Given the description of an element on the screen output the (x, y) to click on. 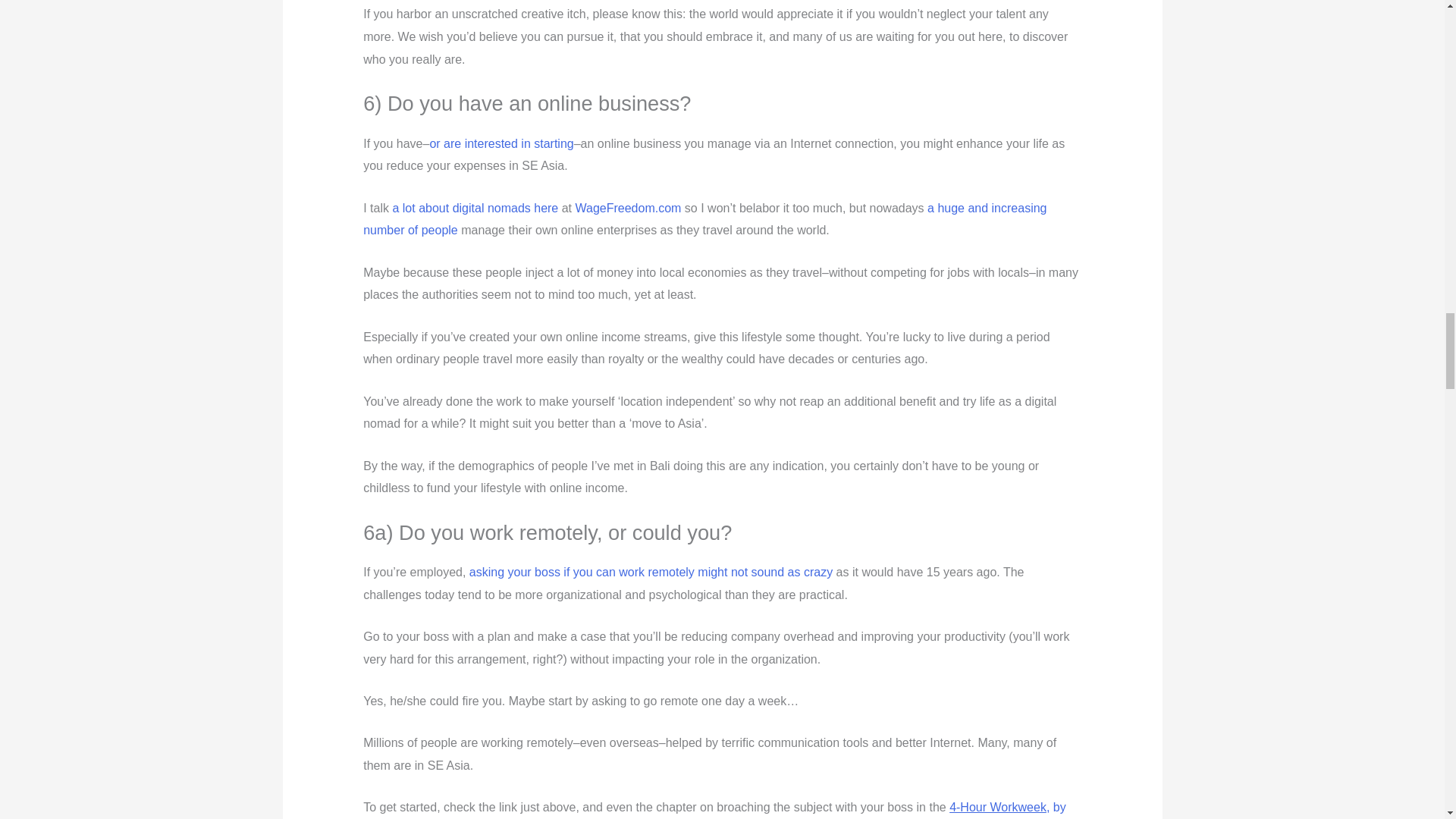
a lot about digital nomads here (474, 207)
WageFreedom.com (628, 207)
a huge and increasing number of people (704, 219)
or are interested in starting (501, 143)
4-Hour Workweek, by Tim Ferriss (713, 809)
